Given the description of an element on the screen output the (x, y) to click on. 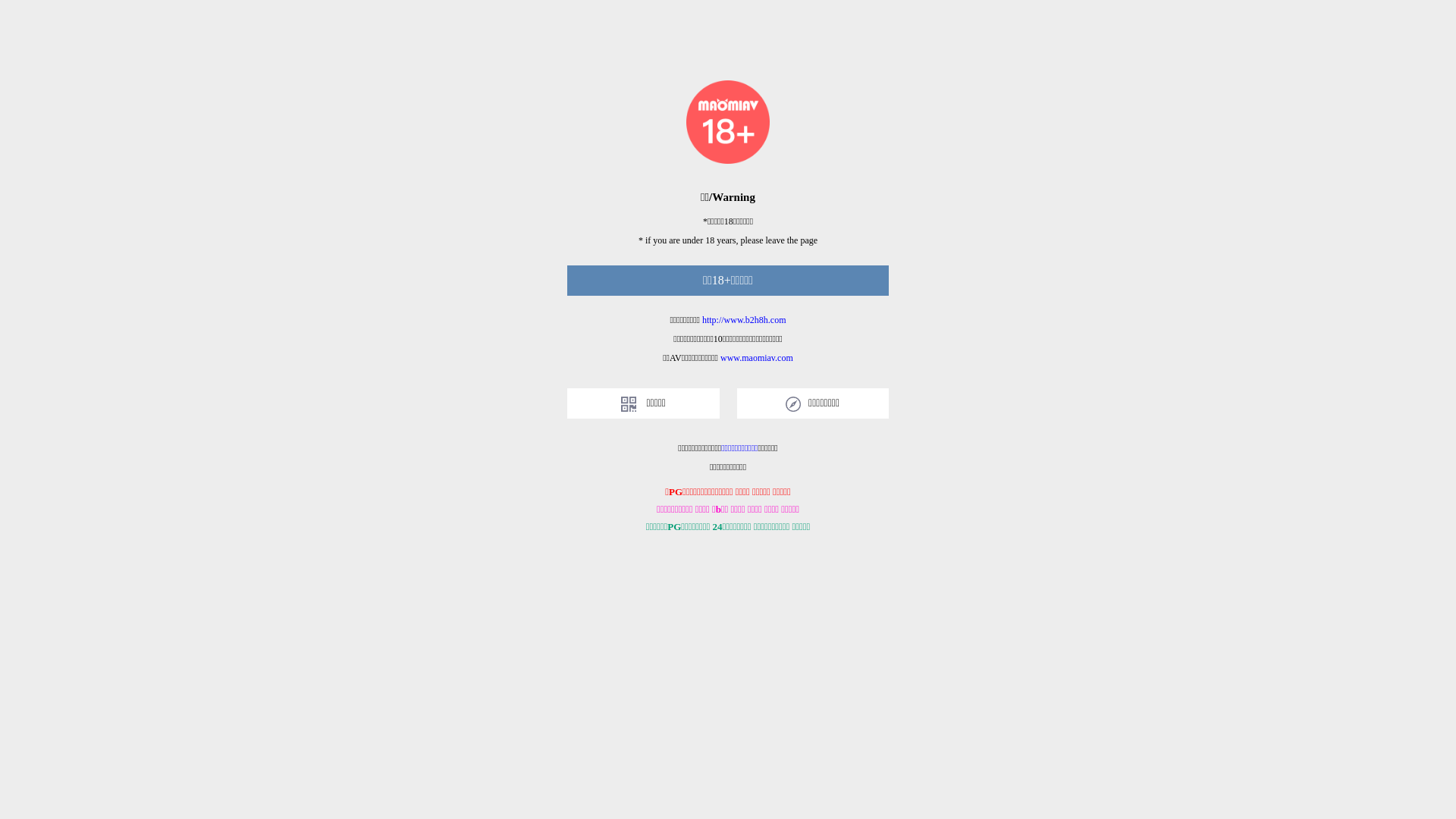
http://www.b2h8h.com Element type: text (744, 319)
www.maomiav.com Element type: text (756, 357)
